Given the description of an element on the screen output the (x, y) to click on. 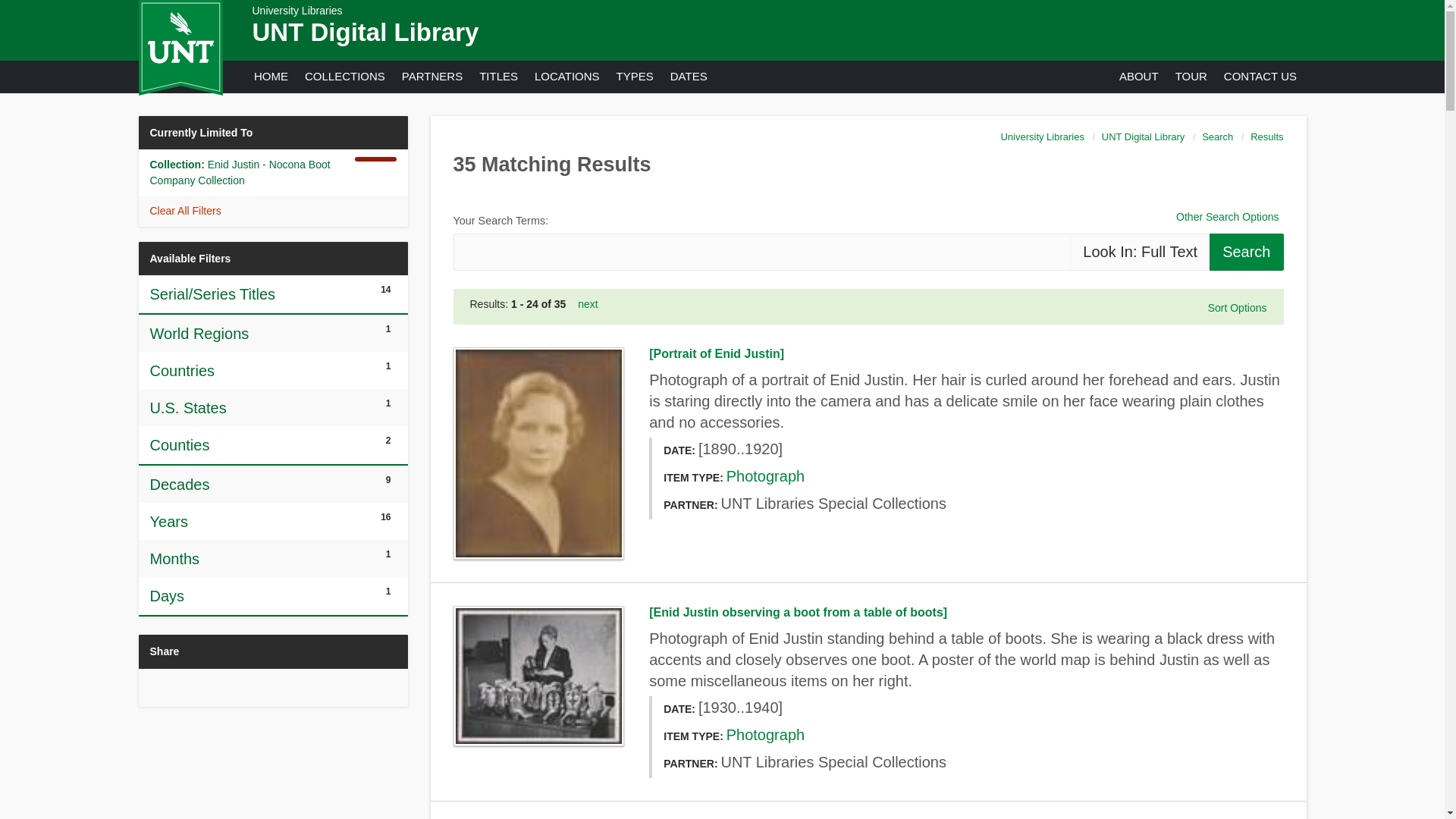
HOME (270, 76)
UNT Digital Library (365, 31)
University Libraries (296, 10)
